Given the description of an element on the screen output the (x, y) to click on. 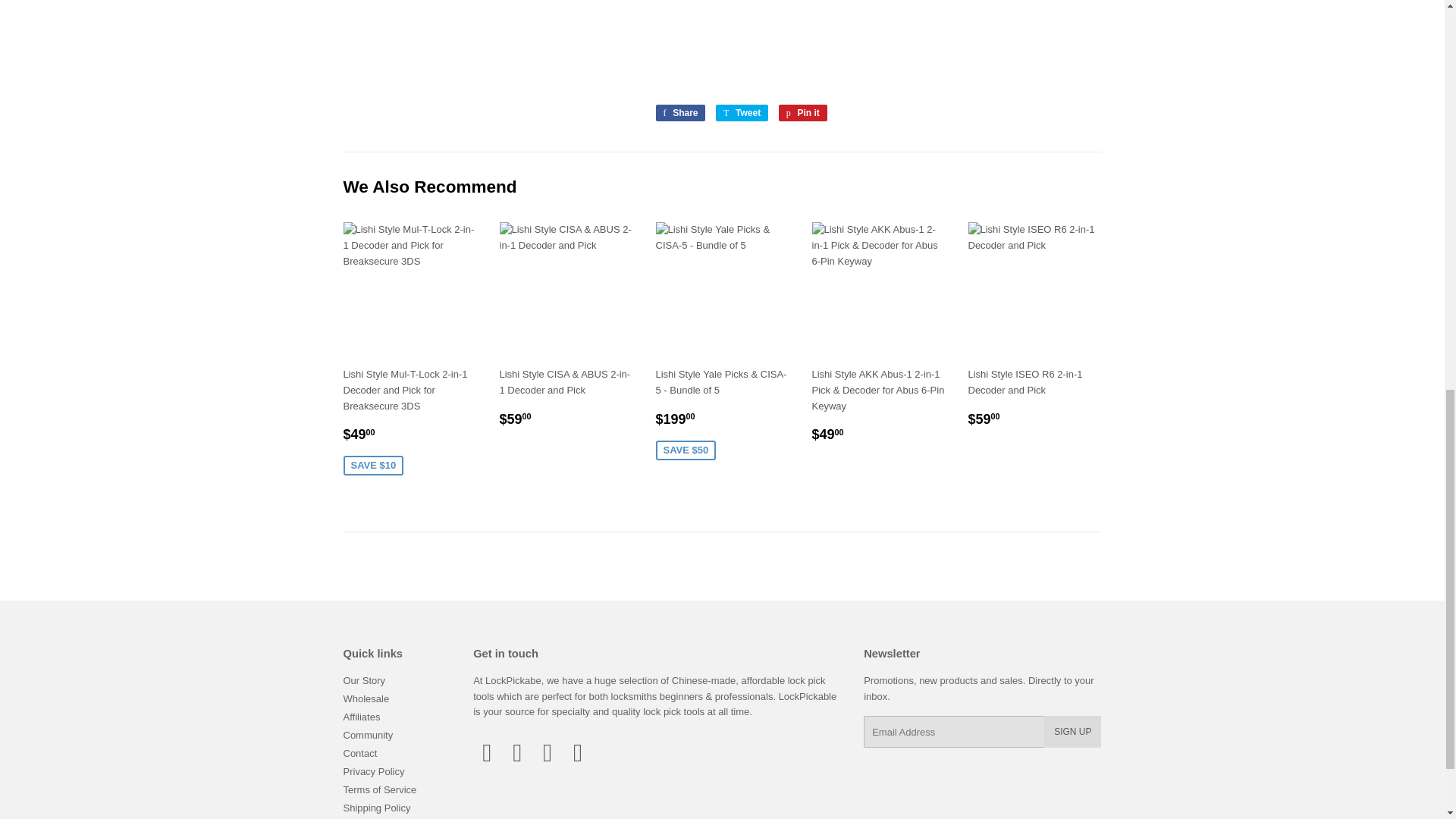
Tweet on Twitter (742, 112)
Pin on Pinterest (802, 112)
Share on Facebook (679, 112)
